Given the description of an element on the screen output the (x, y) to click on. 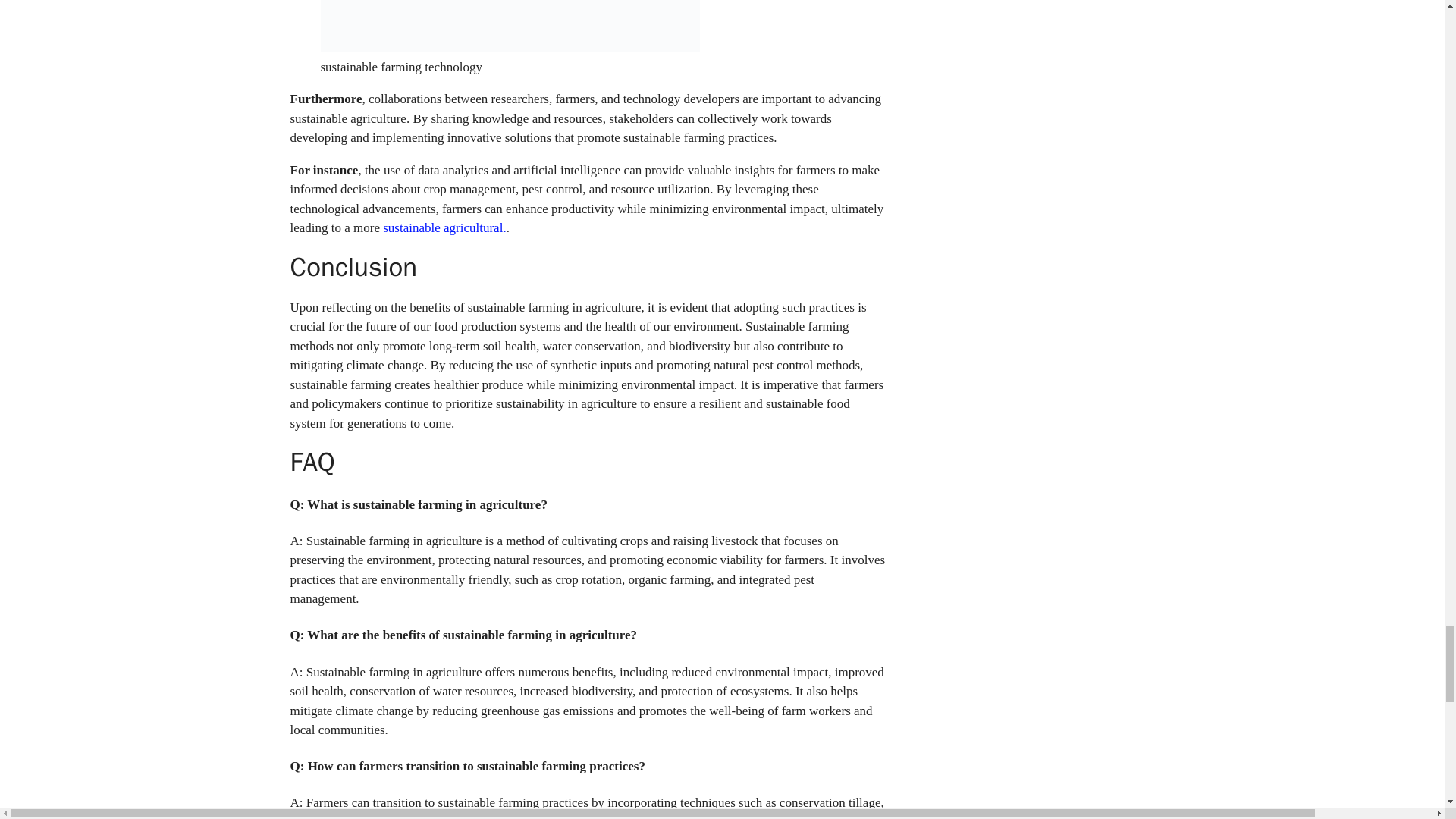
sustainable agricultural. (443, 227)
